Given the description of an element on the screen output the (x, y) to click on. 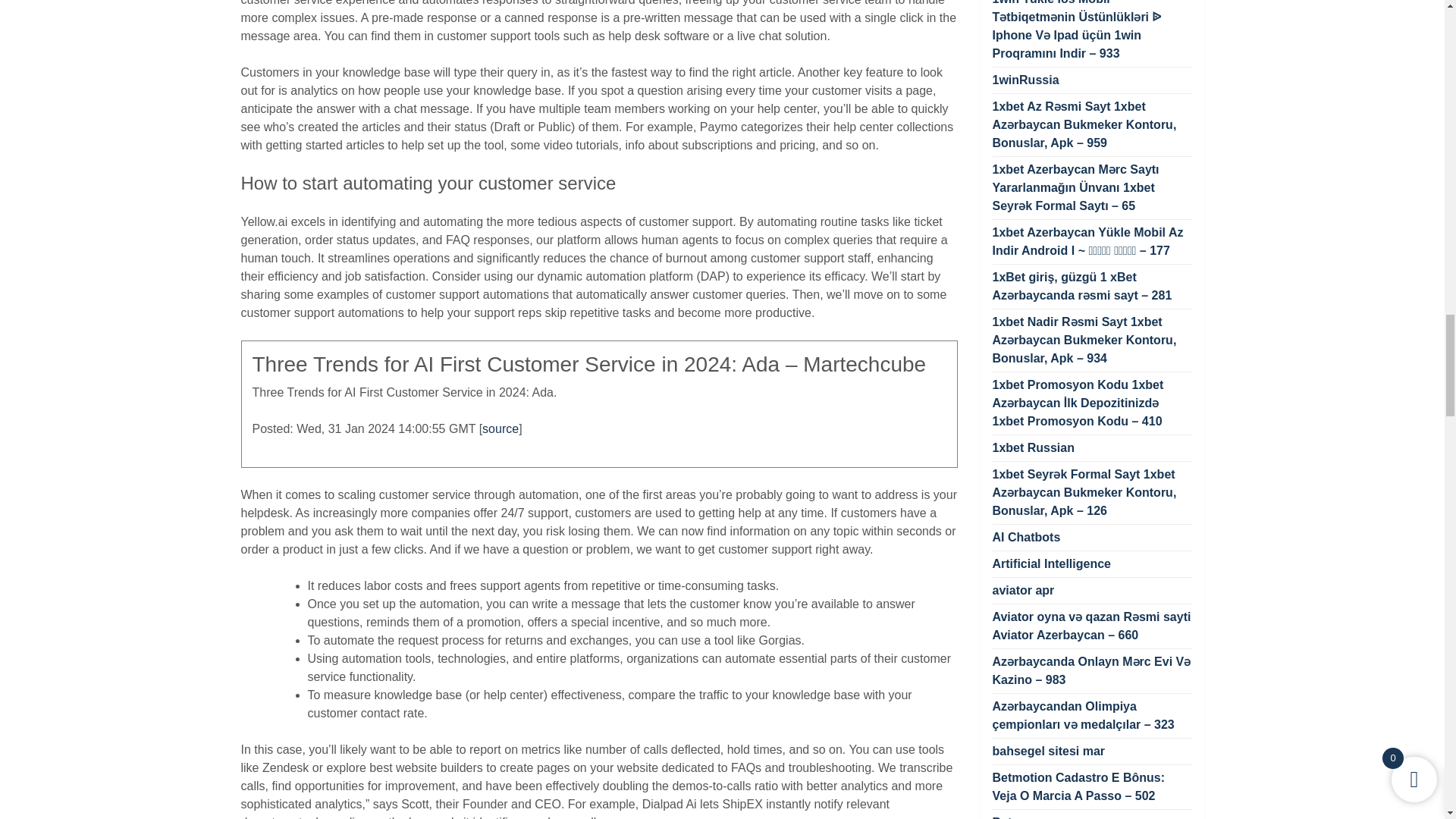
source (499, 428)
